Given the description of an element on the screen output the (x, y) to click on. 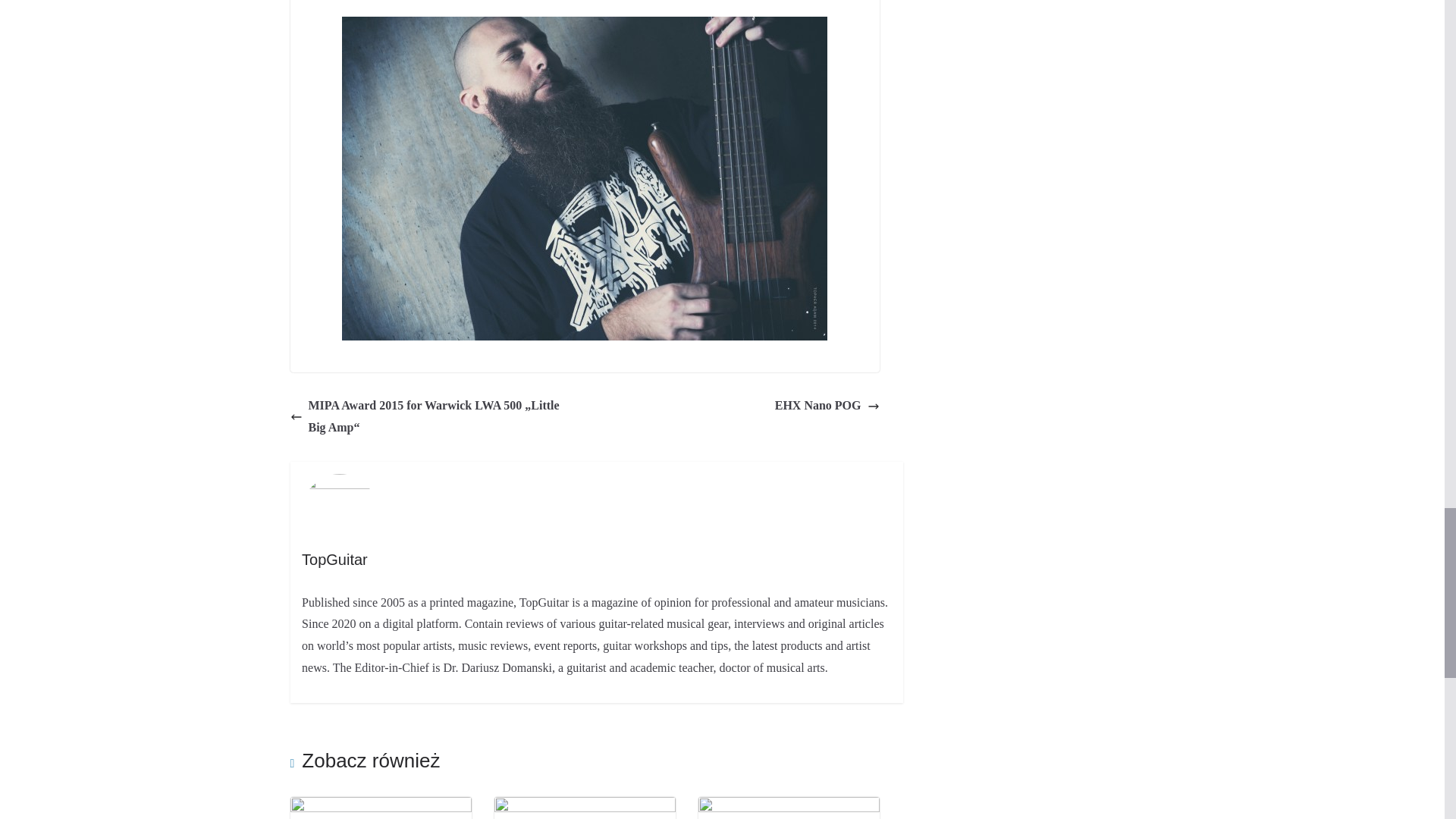
IBANEZ BTB PREMIUM Boutique Basses for everyone (585, 807)
EHX Nano POG (826, 405)
